Given the description of an element on the screen output the (x, y) to click on. 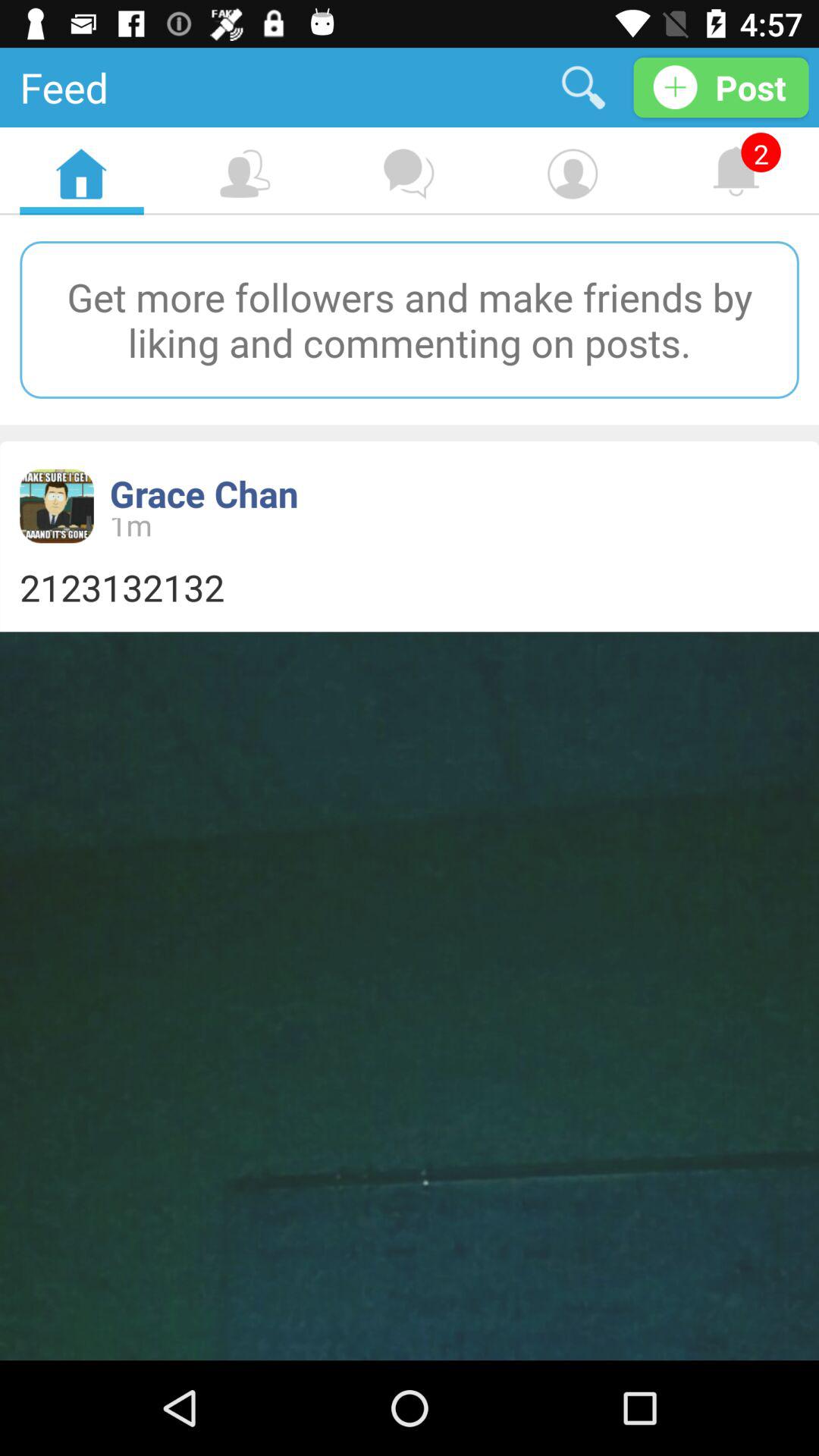
turn on the item next to post (583, 87)
